Given the description of an element on the screen output the (x, y) to click on. 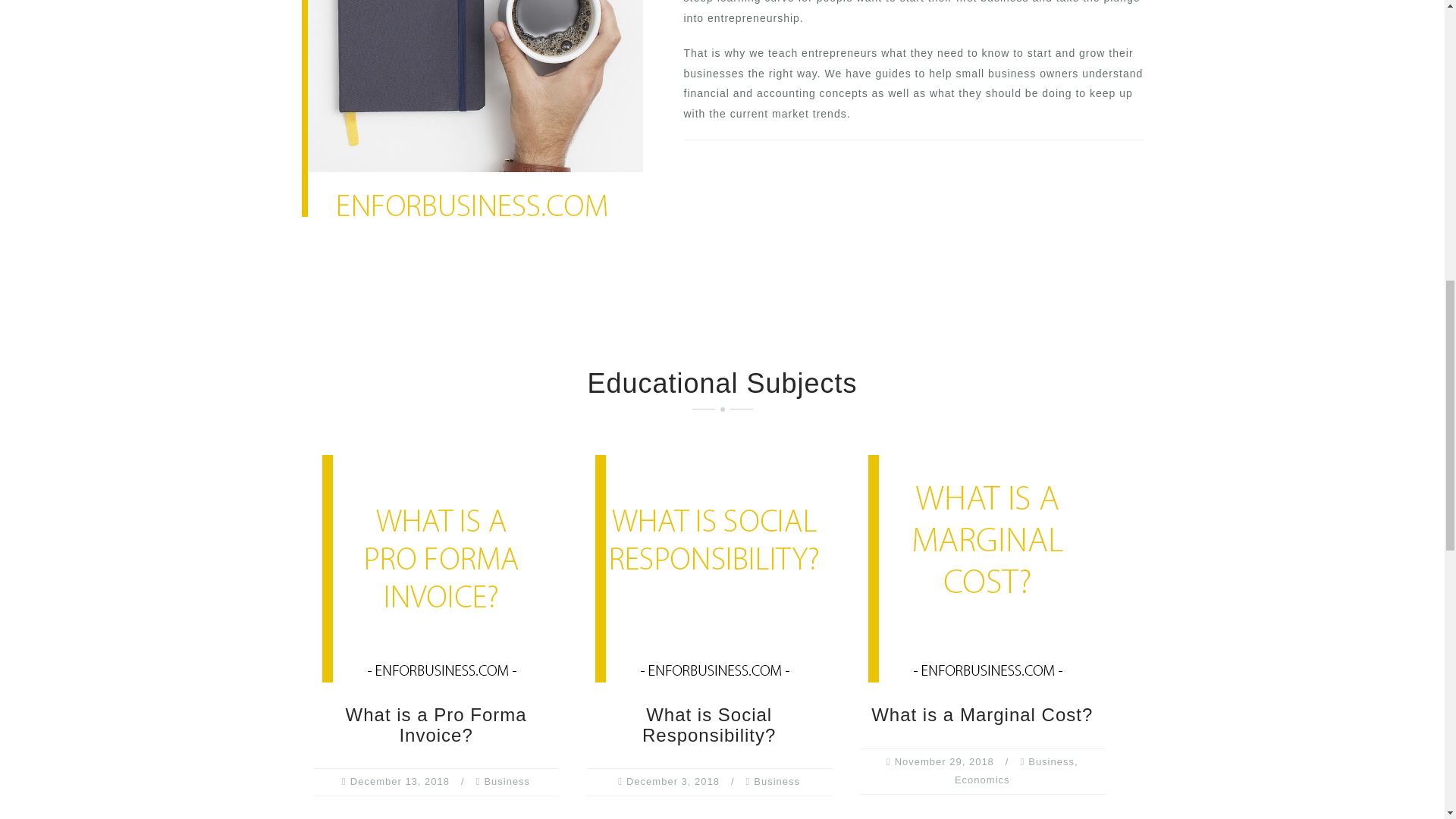
Economics (982, 779)
Business (1050, 761)
What is Social Responsibility? (708, 567)
What is Social Responsibility? (709, 724)
What is a Marginal Cost? (981, 567)
What is a Pro Forma Invoice? (435, 567)
December 3, 2018 (672, 781)
Business (506, 781)
December 13, 2018 (399, 781)
Business (776, 781)
